Given the description of an element on the screen output the (x, y) to click on. 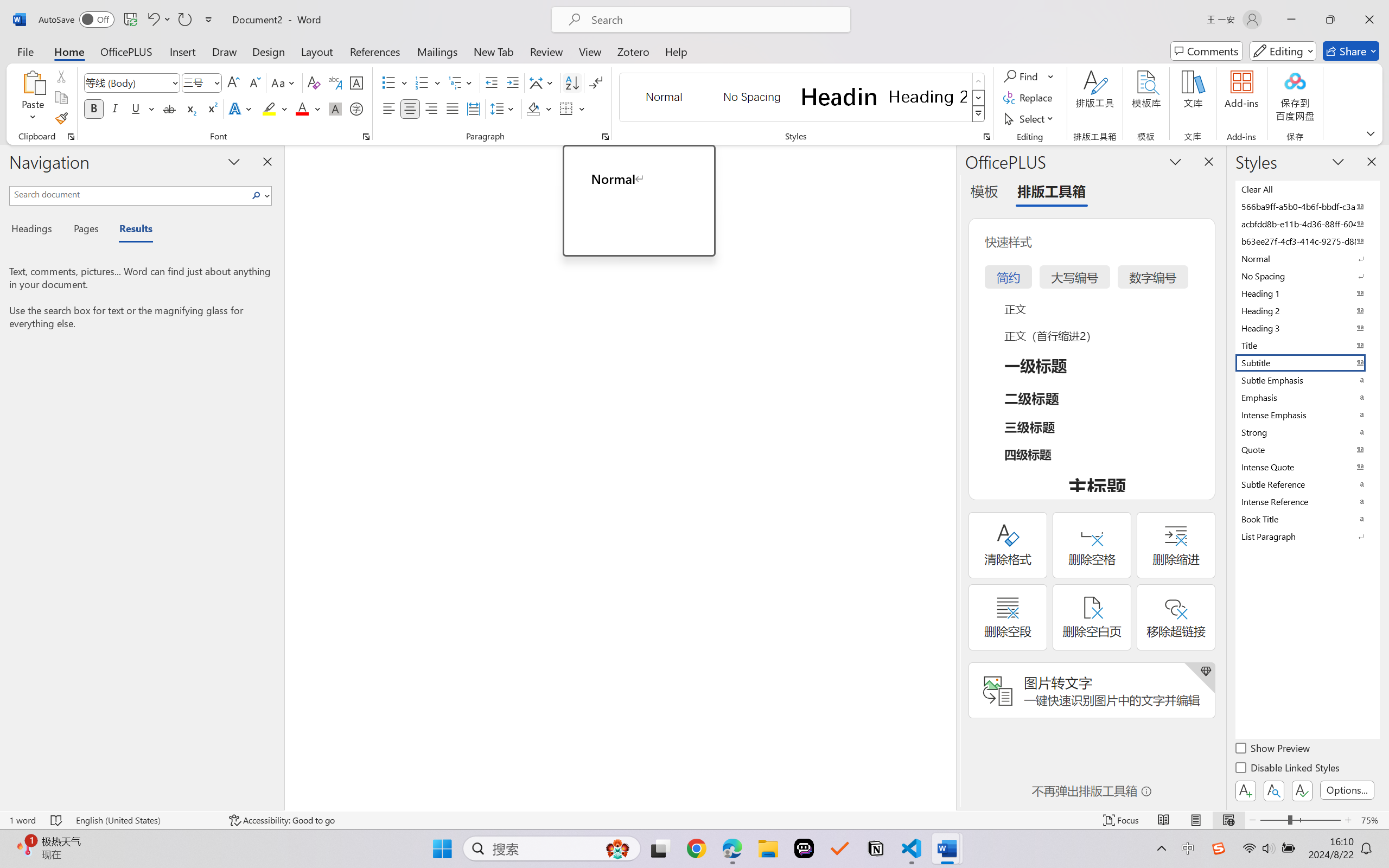
Task Pane Options (1175, 161)
Cut (60, 75)
b63ee27f-4cf3-414c-9275-d88e3f90795e (1306, 240)
Review (546, 51)
Shrink Font (253, 82)
Options... (1346, 789)
Help (675, 51)
File Tab (24, 51)
Search (256, 195)
Increase Indent (512, 82)
Align Right (431, 108)
Clear All (1306, 188)
